Given the description of an element on the screen output the (x, y) to click on. 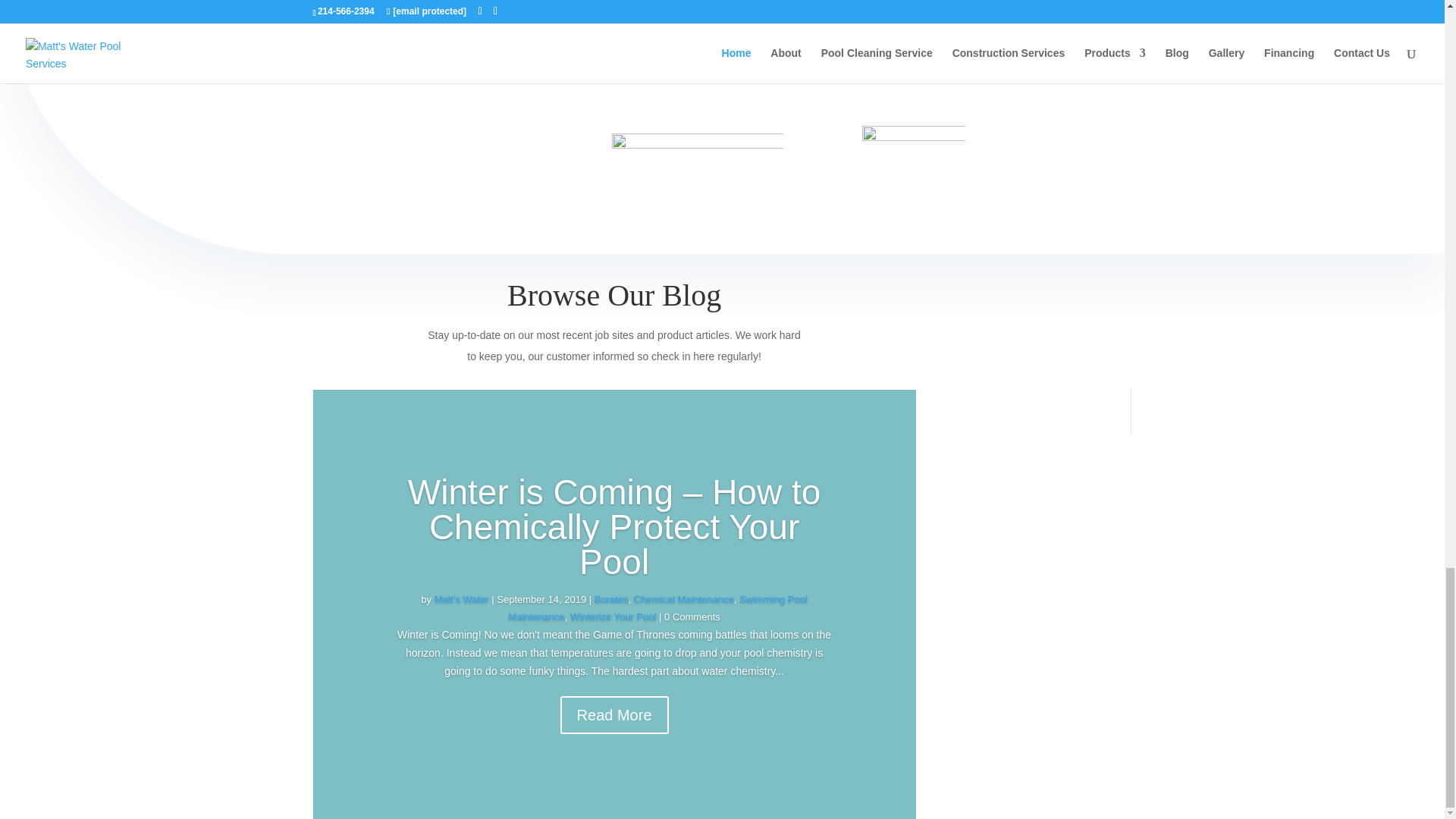
Swimming Pool Maintenance (658, 608)
Posts by Matt's Water (461, 599)
Borates (611, 599)
Chemical Maintenance (683, 599)
Winterize Your Pool (613, 616)
Read More (614, 714)
Matt's Water (461, 599)
